Given the description of an element on the screen output the (x, y) to click on. 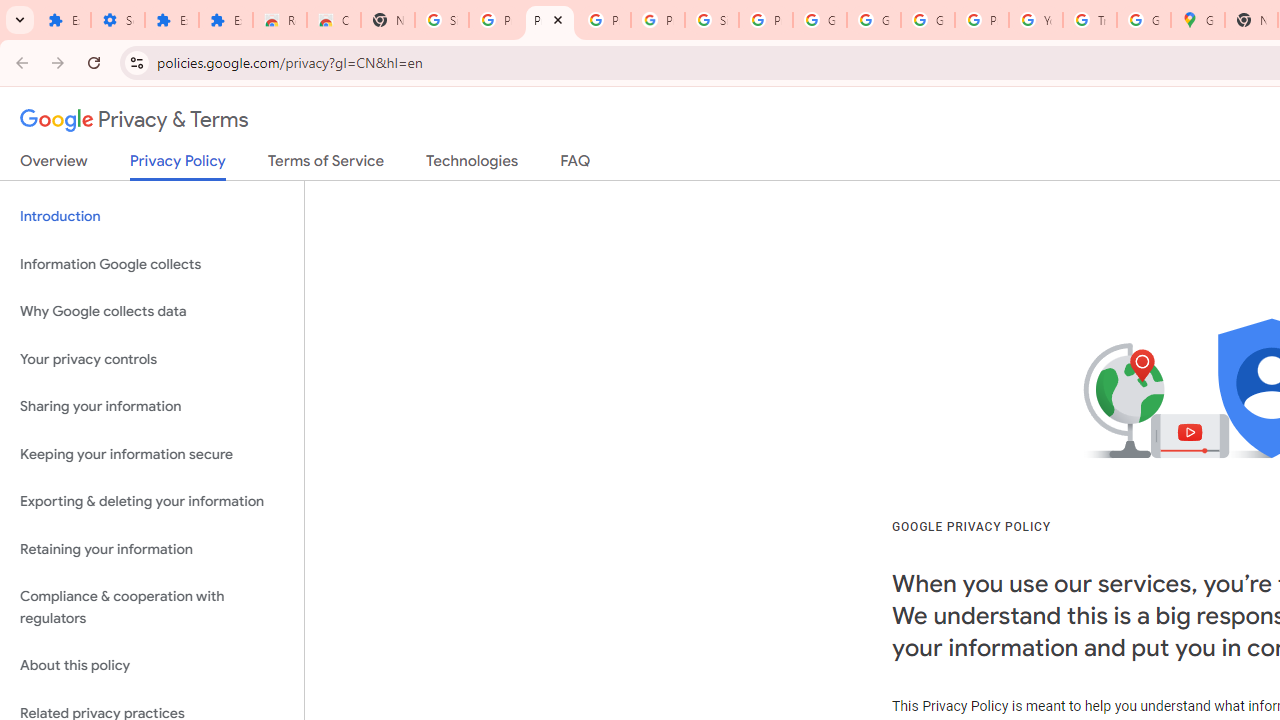
Sharing your information (152, 407)
Google Maps (1197, 20)
Extensions (63, 20)
About this policy (152, 666)
Google Account (819, 20)
New Tab (387, 20)
Retaining your information (152, 548)
Chrome Web Store - Themes (333, 20)
